Given the description of an element on the screen output the (x, y) to click on. 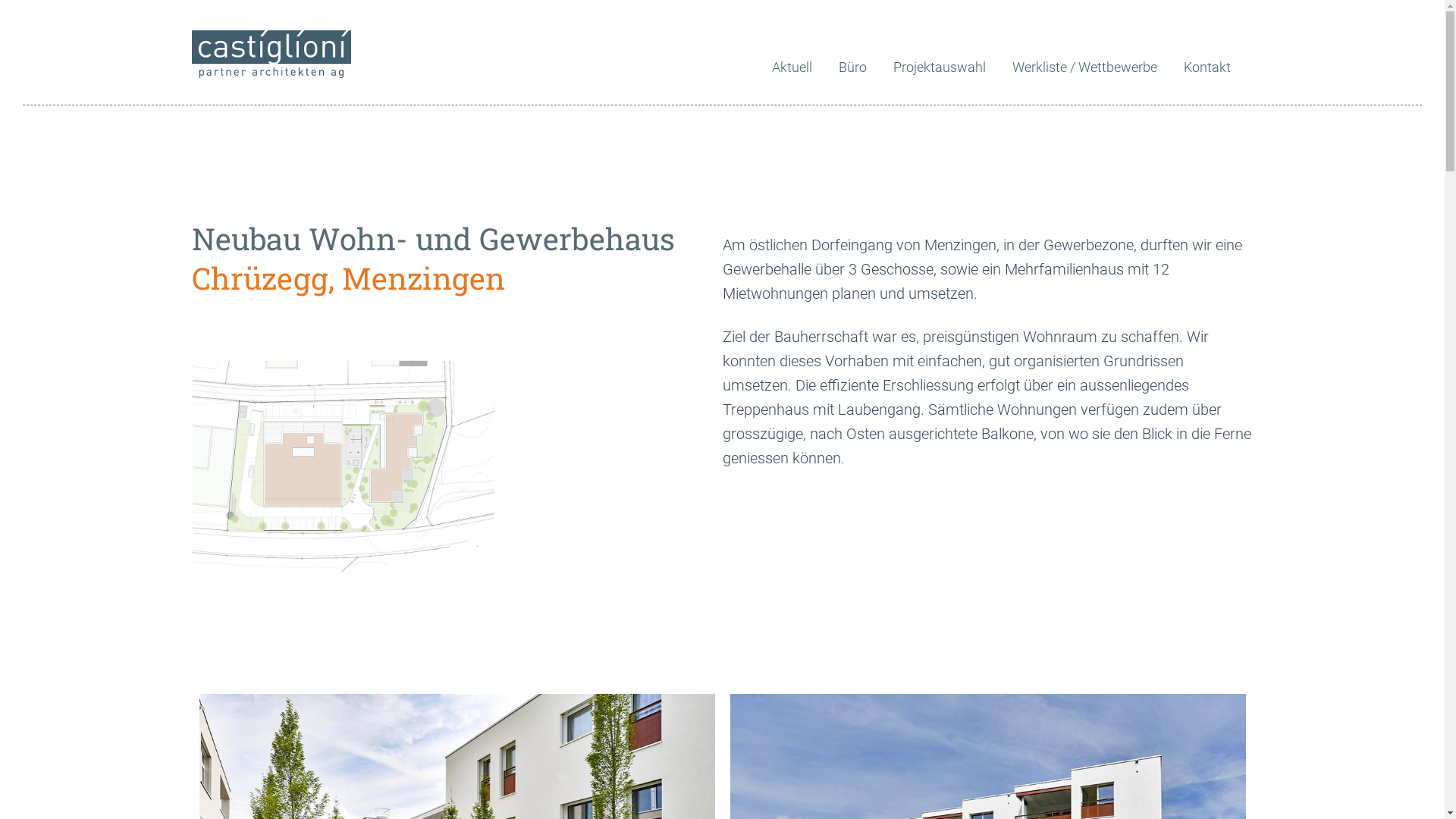
Kontakt Element type: text (1215, 67)
Aktuell Element type: text (801, 67)
Projektauswahl Element type: text (948, 67)
plaene-umgebung-chruezegg-menzingen Element type: hover (342, 466)
castiglioni-architekten-partner-logo Element type: hover (270, 54)
Werkliste / Wettbewerbe Element type: text (1093, 67)
